Given the description of an element on the screen output the (x, y) to click on. 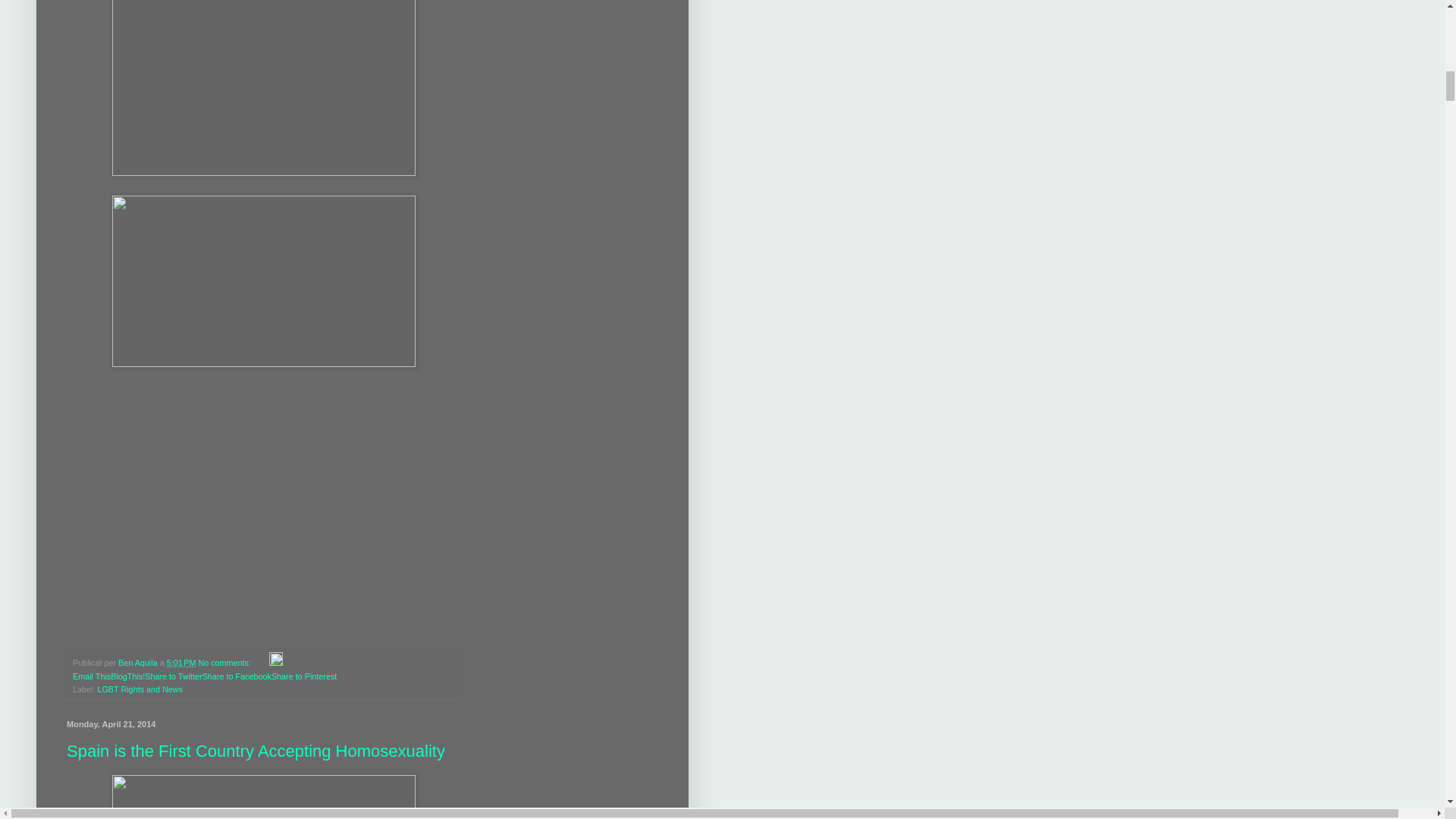
No comments: (225, 662)
author profile (138, 662)
Edit Post (275, 662)
Ben Aquila (138, 662)
Email Post (261, 662)
Share to Facebook (236, 675)
LGBT Rights and News (140, 688)
Share to Pinterest (303, 675)
Share to Twitter (173, 675)
BlogThis! (127, 675)
Share to Facebook (236, 675)
Share to Twitter (173, 675)
Email This (91, 675)
permanent link (181, 662)
